Given the description of an element on the screen output the (x, y) to click on. 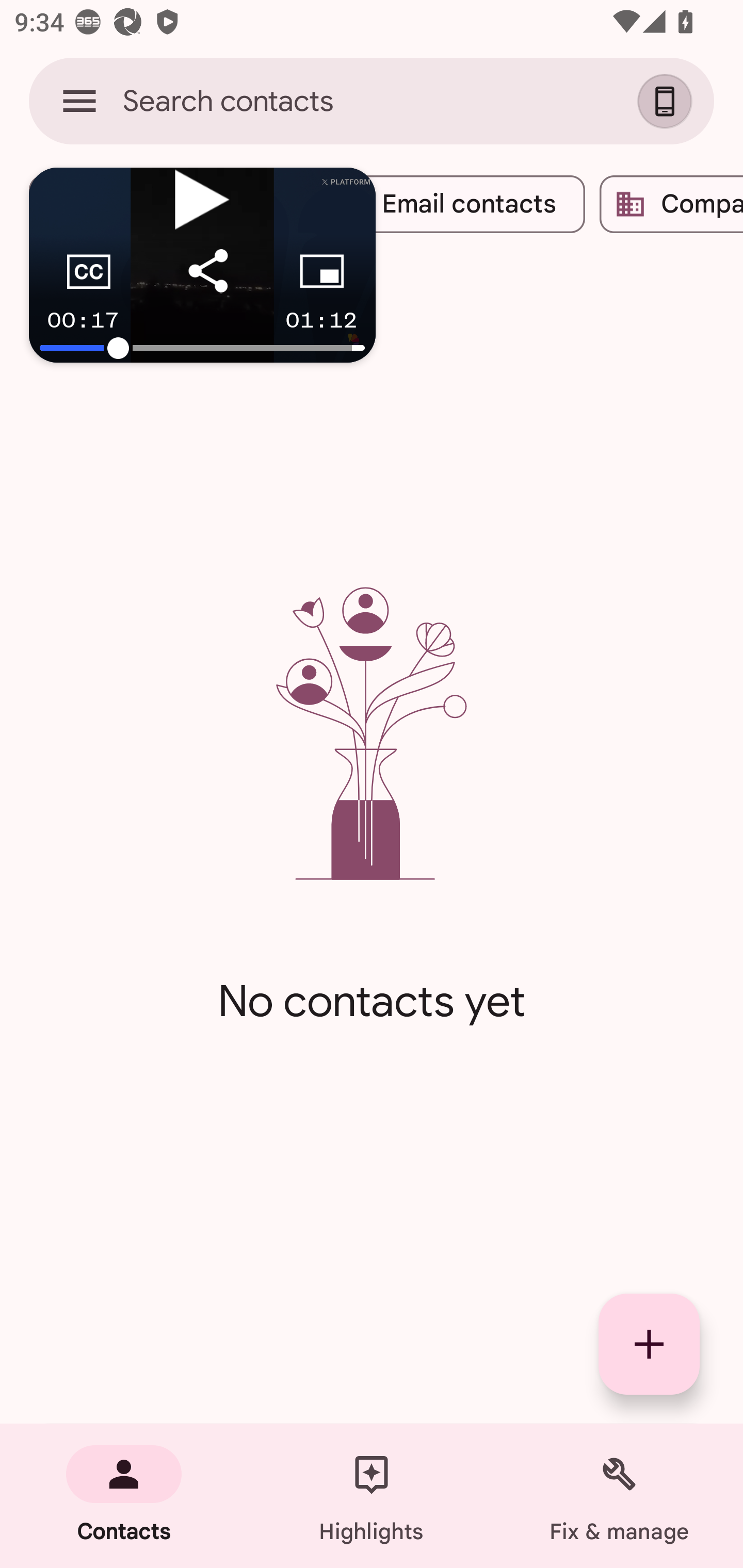
Open navigation drawer (79, 101)
Signed in as Device
Account and settings. (667, 101)
Email contacts (452, 204)
Company (671, 204)
Create contact (648, 1343)
Highlights (371, 1495)
Fix & manage (619, 1495)
